Given the description of an element on the screen output the (x, y) to click on. 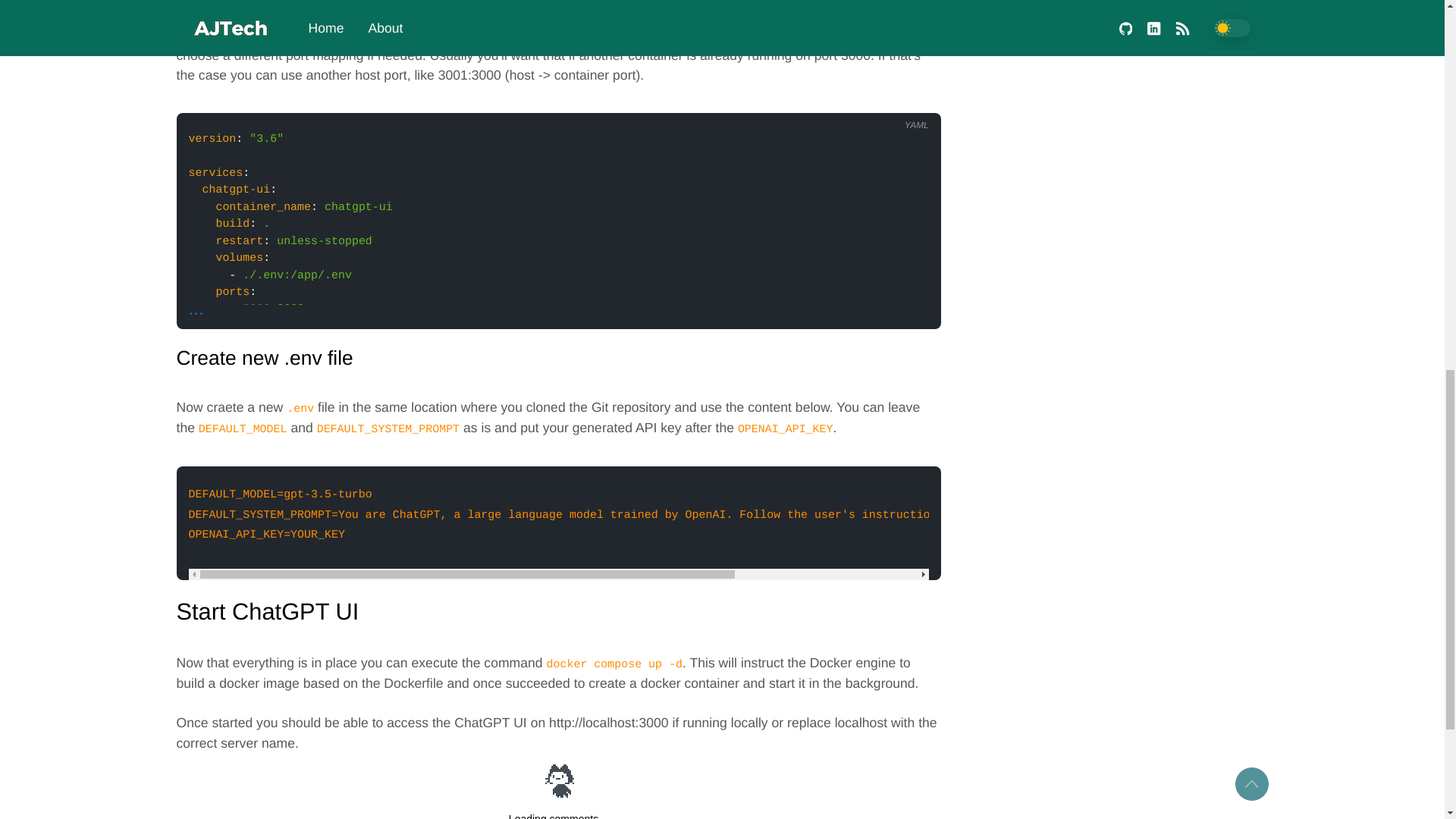
Toggle code block expand (195, 309)
Comments (558, 790)
